Given the description of an element on the screen output the (x, y) to click on. 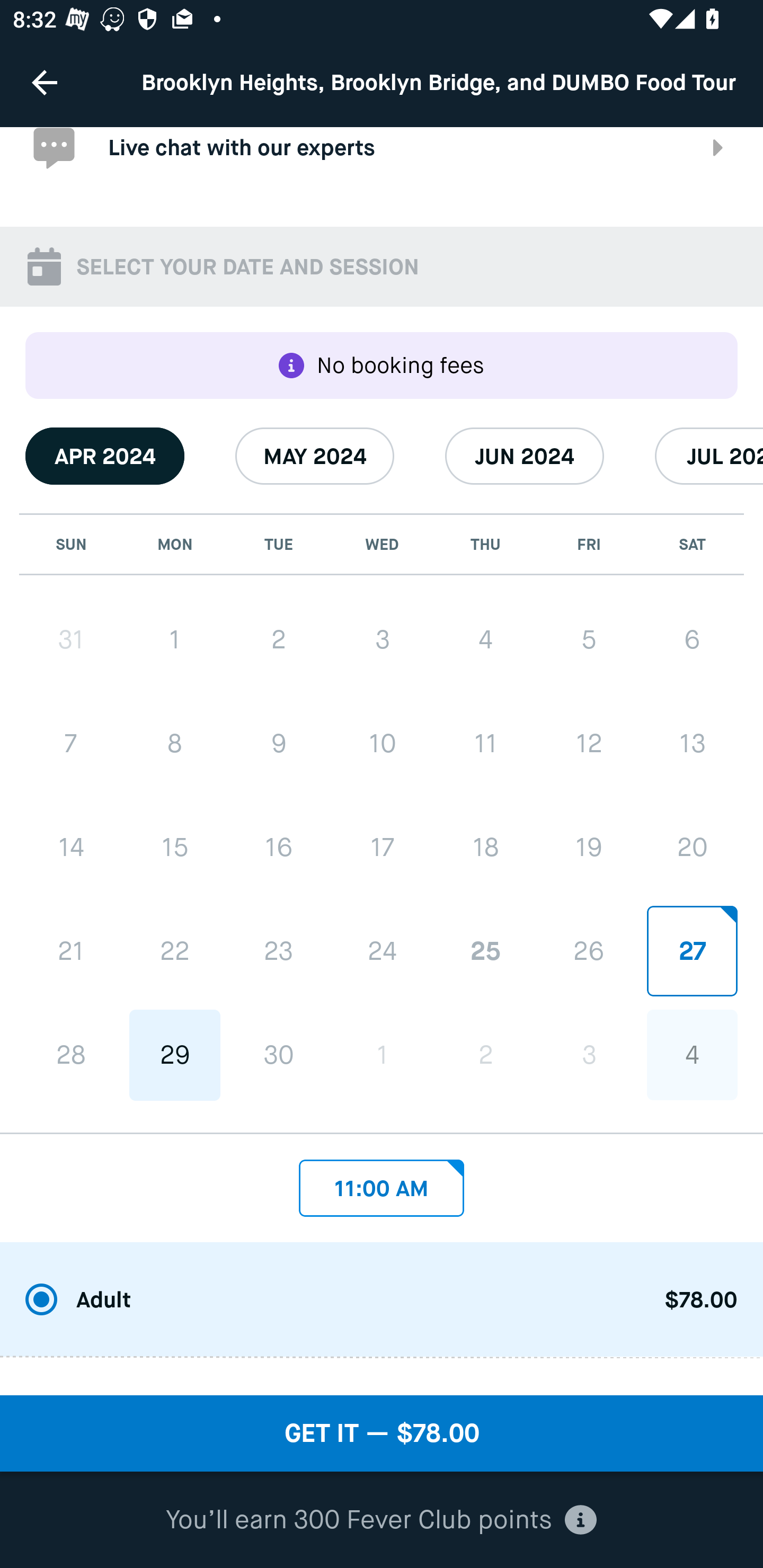
Navigate up (44, 82)
Live chat with our experts (381, 163)
APR 2024 (104, 455)
MAY 2024 (314, 455)
JUN 2024 (524, 455)
JUL 2024 (708, 455)
31 (70, 639)
1 (174, 639)
2 (278, 639)
3 (382, 639)
4 (485, 639)
5 (588, 639)
6 (692, 639)
7 (70, 742)
8 (174, 742)
9 (278, 742)
10 (382, 742)
11 (485, 742)
12 (588, 742)
13 (692, 742)
14 (70, 847)
15 (174, 847)
16 (278, 847)
17 (382, 846)
18 (485, 846)
19 (588, 846)
20 (692, 846)
21 (70, 951)
22 (174, 951)
23 (278, 951)
24 (382, 950)
25 (485, 950)
26 (588, 950)
27 (692, 950)
28 (70, 1054)
29 (174, 1054)
30 (278, 1054)
1 (382, 1054)
2 (485, 1054)
3 (588, 1054)
4 (692, 1054)
11:00 AM (381, 1182)
Adult $78.00 (381, 1299)
GET IT — $78.00 (381, 1433)
You’ll earn 300 Fever Club points (380, 1519)
